Given the description of an element on the screen output the (x, y) to click on. 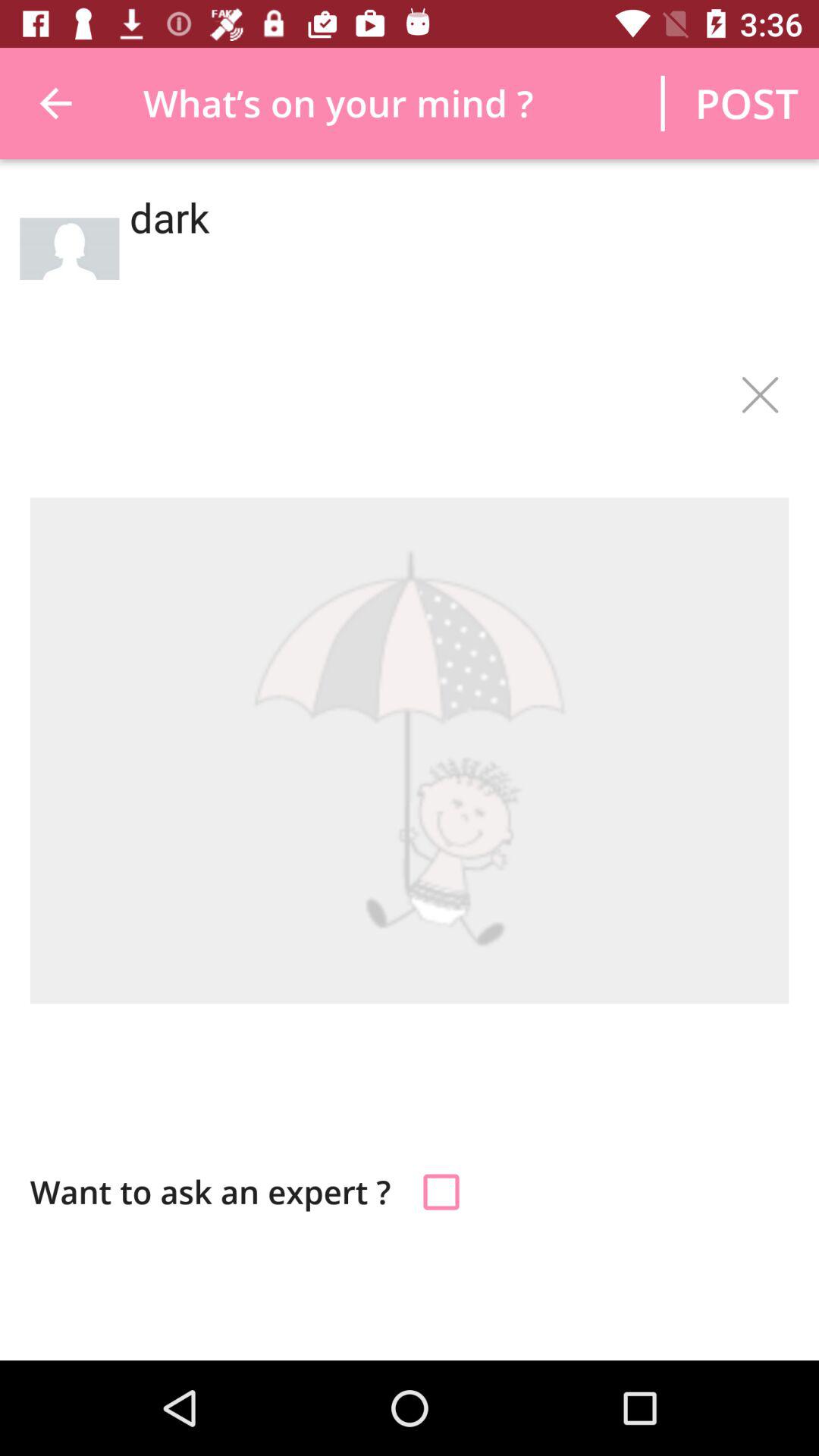
click icon next to want to ask (441, 1191)
